Given the description of an element on the screen output the (x, y) to click on. 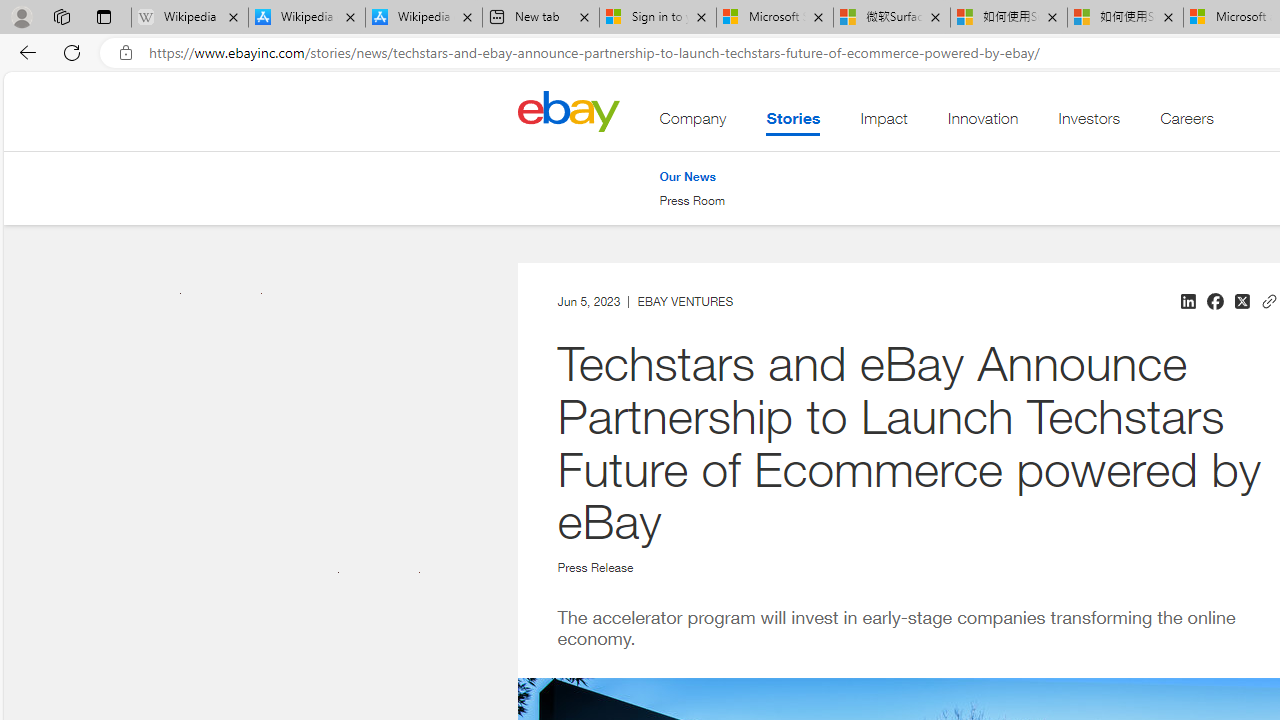
Our News (692, 176)
Copy link to clipboard (1268, 299)
Careers (1186, 123)
Investors (1089, 123)
Company (693, 123)
